Given the description of an element on the screen output the (x, y) to click on. 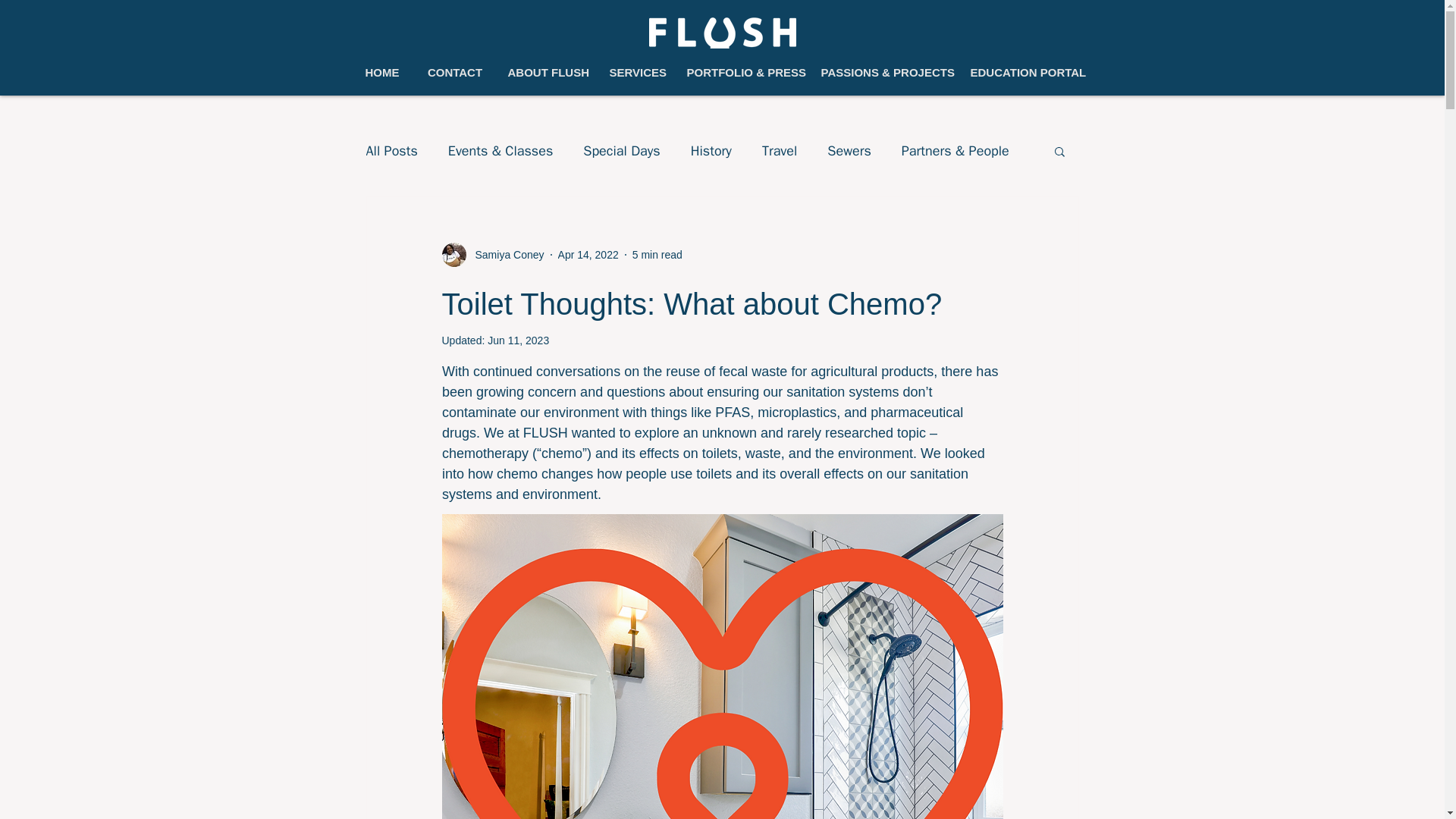
ABOUT FLUSH (546, 72)
CONTACT (454, 72)
Jun 11, 2023 (517, 340)
HOME (381, 72)
All Posts (390, 150)
EDUCATION PORTAL (1025, 72)
SERVICES (635, 72)
Samiya Coney (504, 254)
Apr 14, 2022 (587, 254)
5 min read (656, 254)
